Given the description of an element on the screen output the (x, y) to click on. 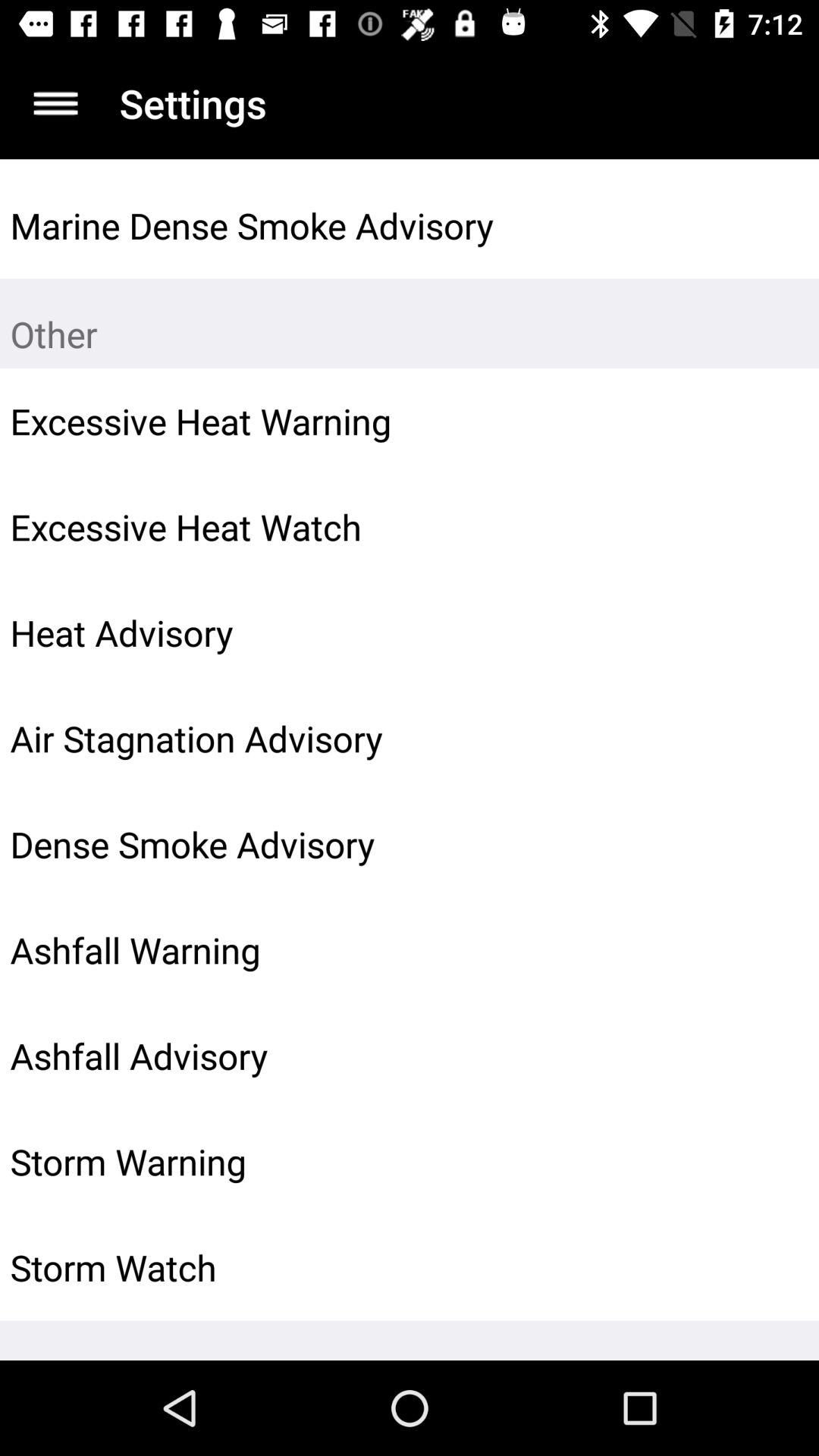
click the icon to the right of the excessive heat watch item (771, 527)
